Given the description of an element on the screen output the (x, y) to click on. 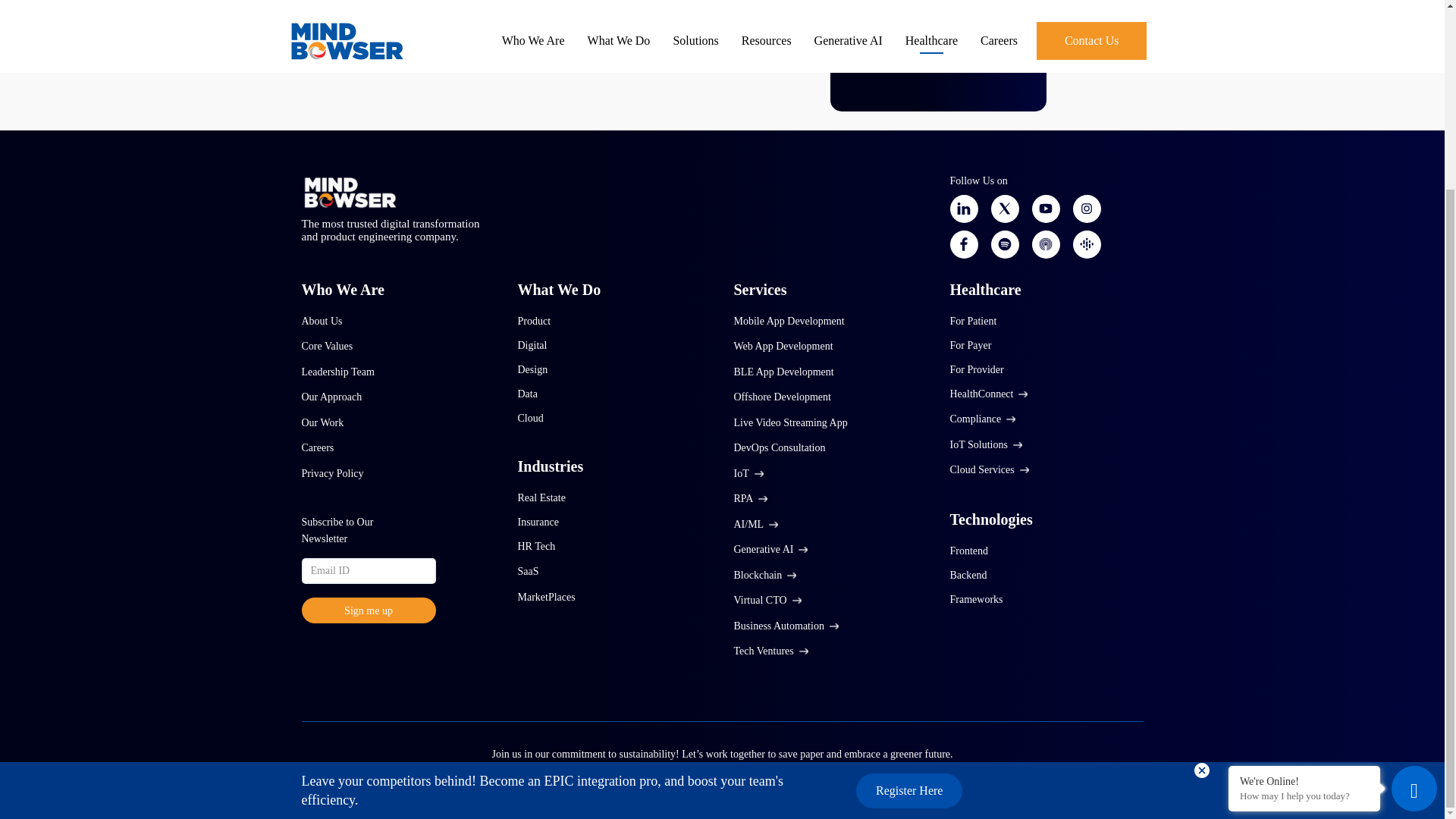
We're Online! (1304, 544)
How may I help you today? (1304, 559)
